Given the description of an element on the screen output the (x, y) to click on. 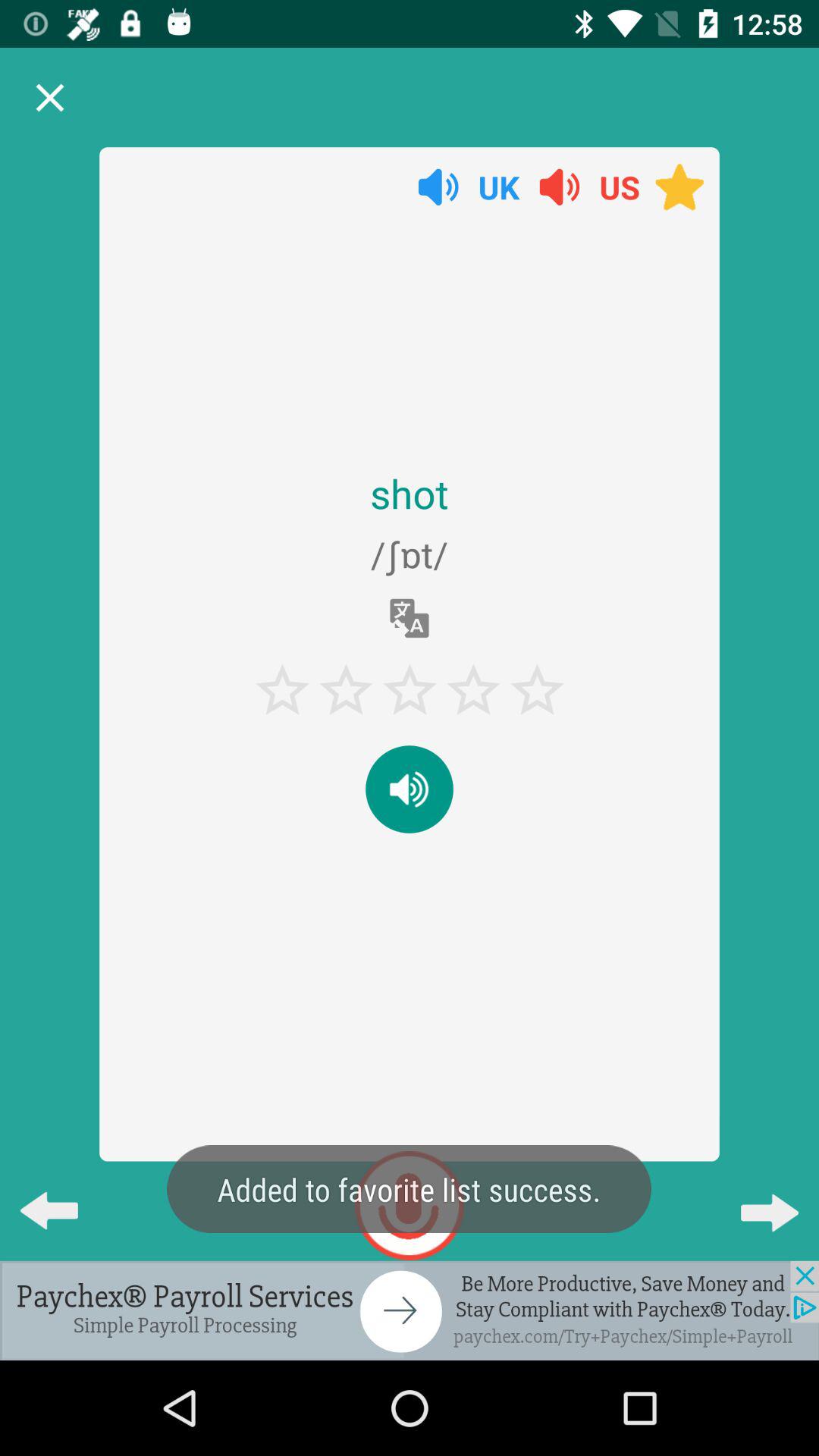
advertisement (409, 1310)
